Given the description of an element on the screen output the (x, y) to click on. 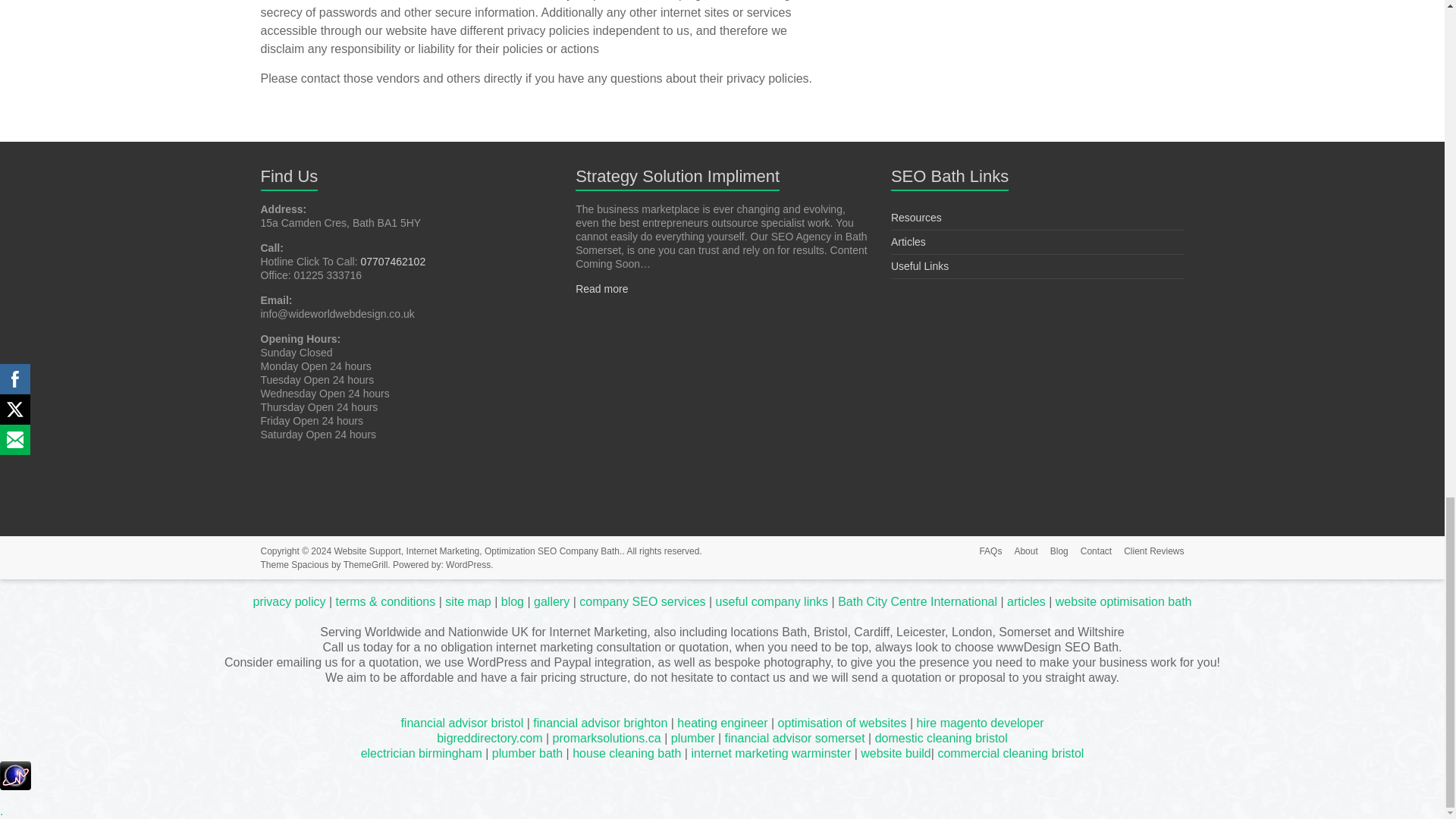
WordPress (467, 564)
07707462102 (393, 261)
Useful Links (920, 265)
Spacious (310, 564)
Read more (601, 288)
Blog (1053, 552)
eXTReMe Tracker - Free Website Statistics (15, 768)
Resources (916, 217)
Strategy Solution Impliment (676, 176)
WordPress (467, 564)
Articles (908, 241)
Client Reviews (1147, 552)
Strategy Solution Impliment (676, 176)
